Given the description of an element on the screen output the (x, y) to click on. 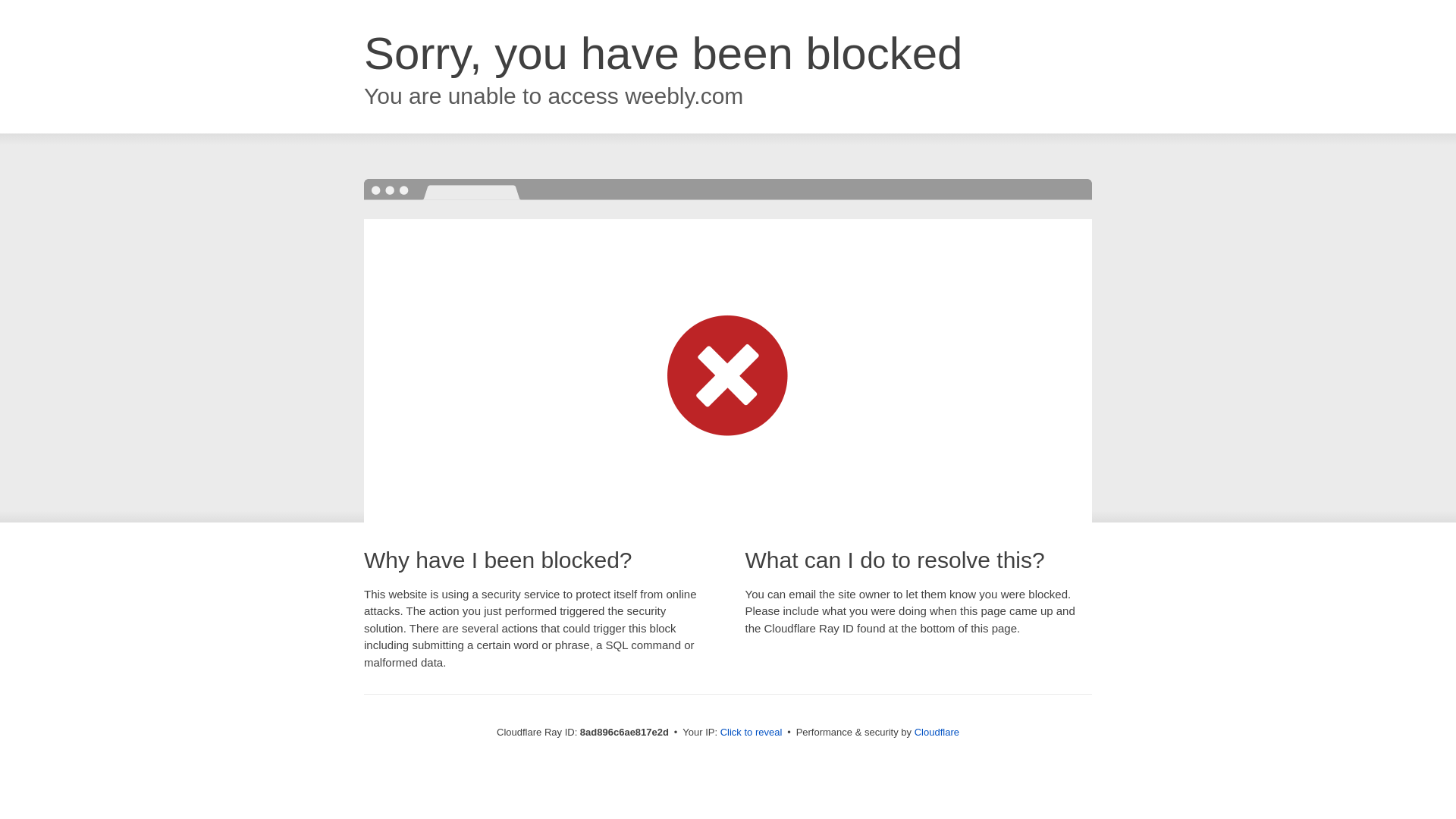
Click to reveal (751, 732)
Cloudflare (936, 731)
